Given the description of an element on the screen output the (x, y) to click on. 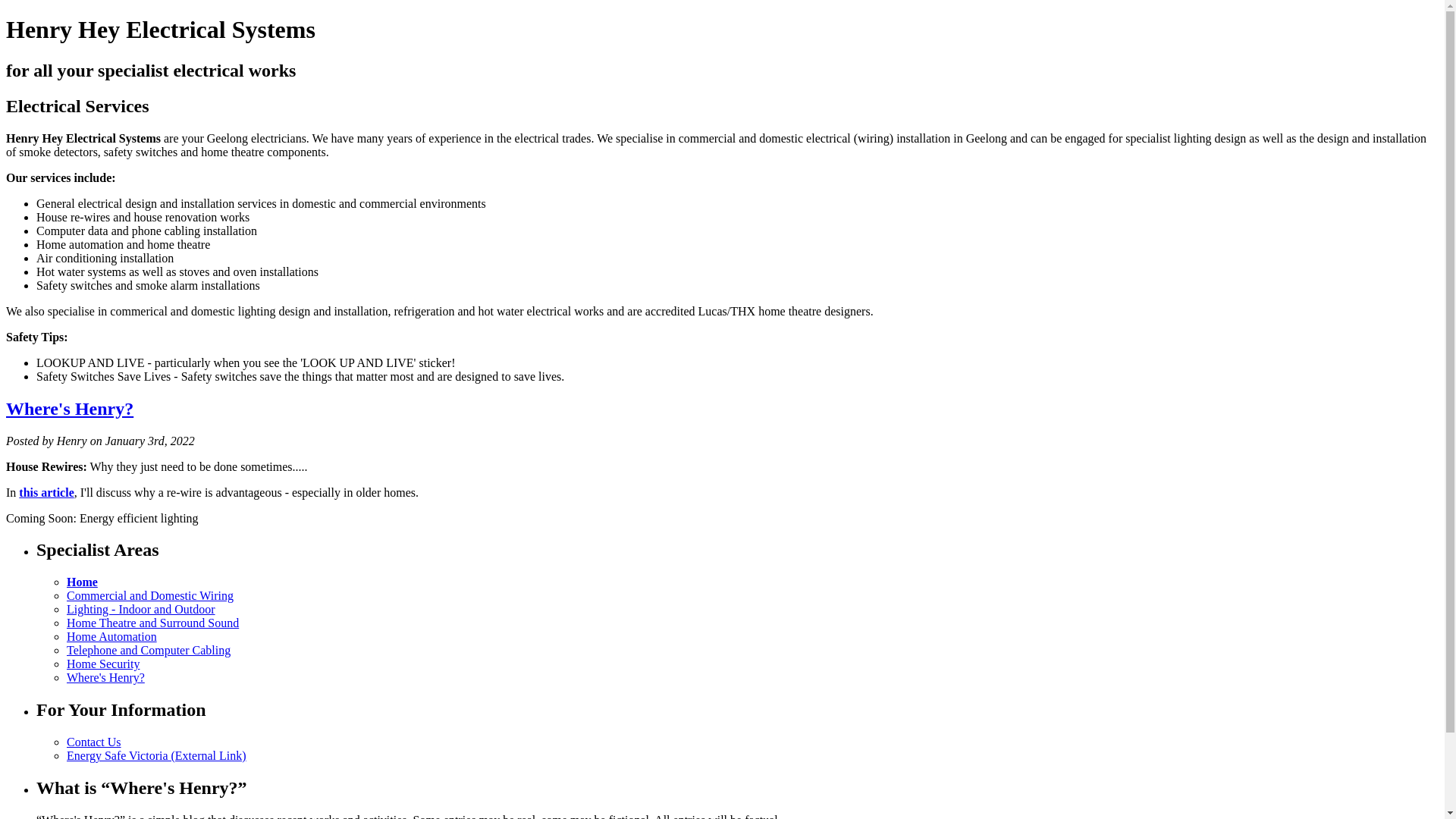
Home Element type: text (81, 581)
Commercial and Domestic Wiring Element type: text (149, 595)
Telephone and Computer Cabling Element type: text (148, 649)
Where's Henry? Element type: text (105, 677)
Home Theatre and Surround Sound Element type: text (152, 622)
Energy Safe Victoria (External Link) Element type: text (156, 755)
Home Security Element type: text (102, 663)
Home Automation Element type: text (111, 636)
Lighting - Indoor and Outdoor Element type: text (140, 608)
Contact Us Element type: text (93, 741)
this article Element type: text (45, 491)
Where's Henry? Element type: text (69, 408)
